Given the description of an element on the screen output the (x, y) to click on. 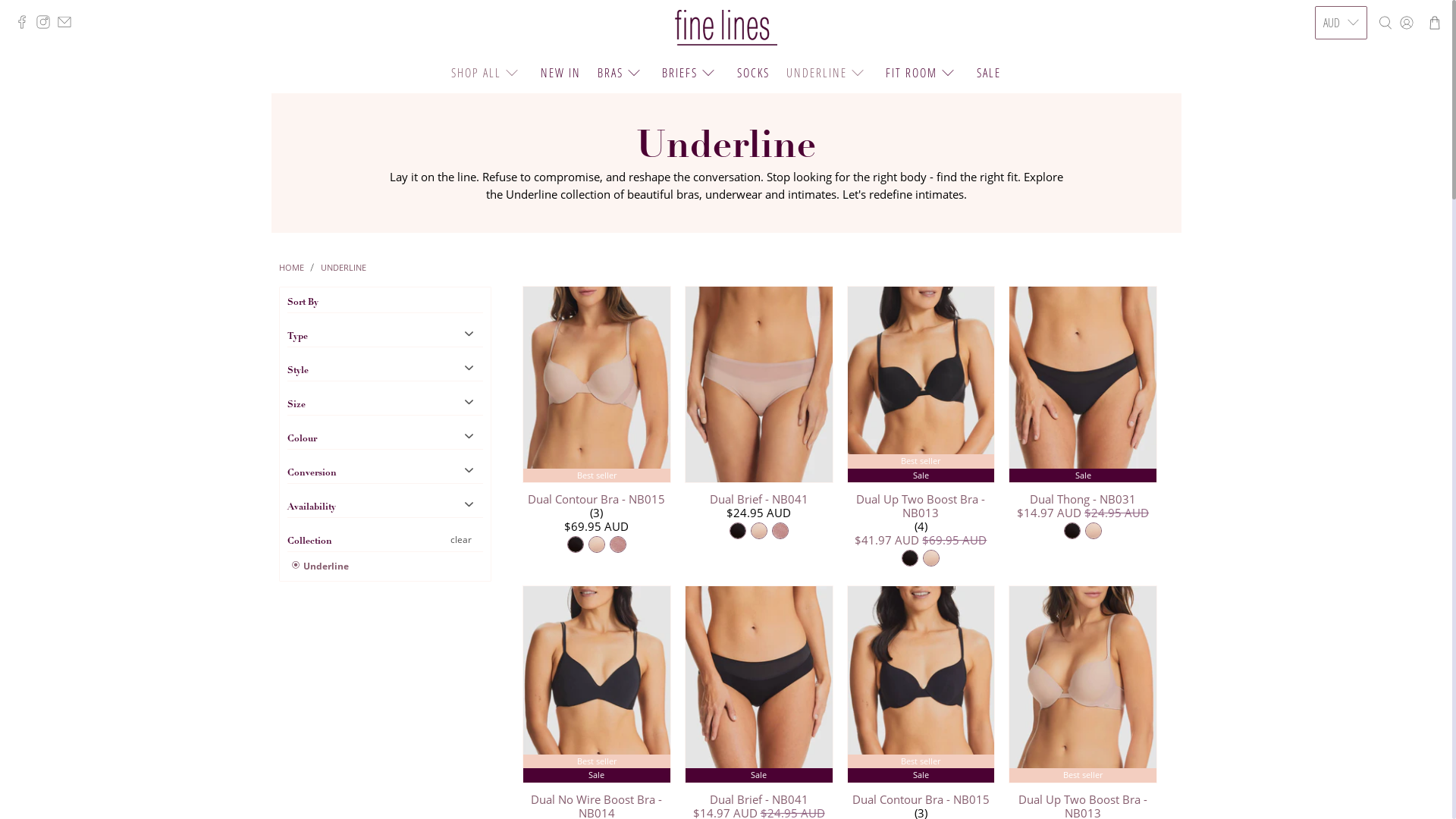
USD Element type: text (1340, 61)
EUR Element type: text (1340, 252)
AUD Element type: text (1340, 220)
CAD Element type: text (1340, 125)
Best seller Element type: text (1082, 684)
Sale Element type: text (1082, 384)
Dual Brief - NB041 Element type: text (758, 497)
Best seller
Sale Element type: text (596, 684)
Best seller
Sale Element type: text (920, 684)
Dual Contour Bra - NB015 Element type: text (920, 798)
BRAS Element type: text (621, 72)
Sale Element type: text (758, 684)
Fine Lines Lingerie on Instagram Element type: hover (46, 24)
Email Fine Lines Lingerie Element type: hover (67, 24)
INR Element type: text (1340, 156)
SALE Element type: text (988, 72)
Dual Contour Bra - NB015 Element type: text (596, 497)
FIT ROOM Element type: text (922, 72)
Dual Up Two Boost Bra - NB013 Element type: text (920, 504)
Dual Brief - NB041 Element type: text (758, 798)
NZD Element type: text (1340, 93)
Dual Thong - NB031 Element type: text (1082, 497)
HOME Element type: text (291, 267)
Fine Lines Lingerie on Facebook Element type: hover (25, 24)
clear Element type: text (459, 539)
UNDERLINE Element type: text (343, 267)
SHOP ALL Element type: text (486, 72)
NEW IN Element type: text (560, 72)
BRIEFS Element type: text (690, 72)
Fine Lines Lingerie Element type: hover (725, 27)
JPY Element type: text (1340, 284)
AUD Element type: text (1340, 22)
Best seller
Sale Element type: text (920, 384)
GBP Element type: text (1340, 188)
UNDERLINE Element type: text (827, 72)
Best seller Element type: text (596, 384)
Underline Element type: text (319, 566)
SOCKS Element type: text (753, 72)
